Given the description of an element on the screen output the (x, y) to click on. 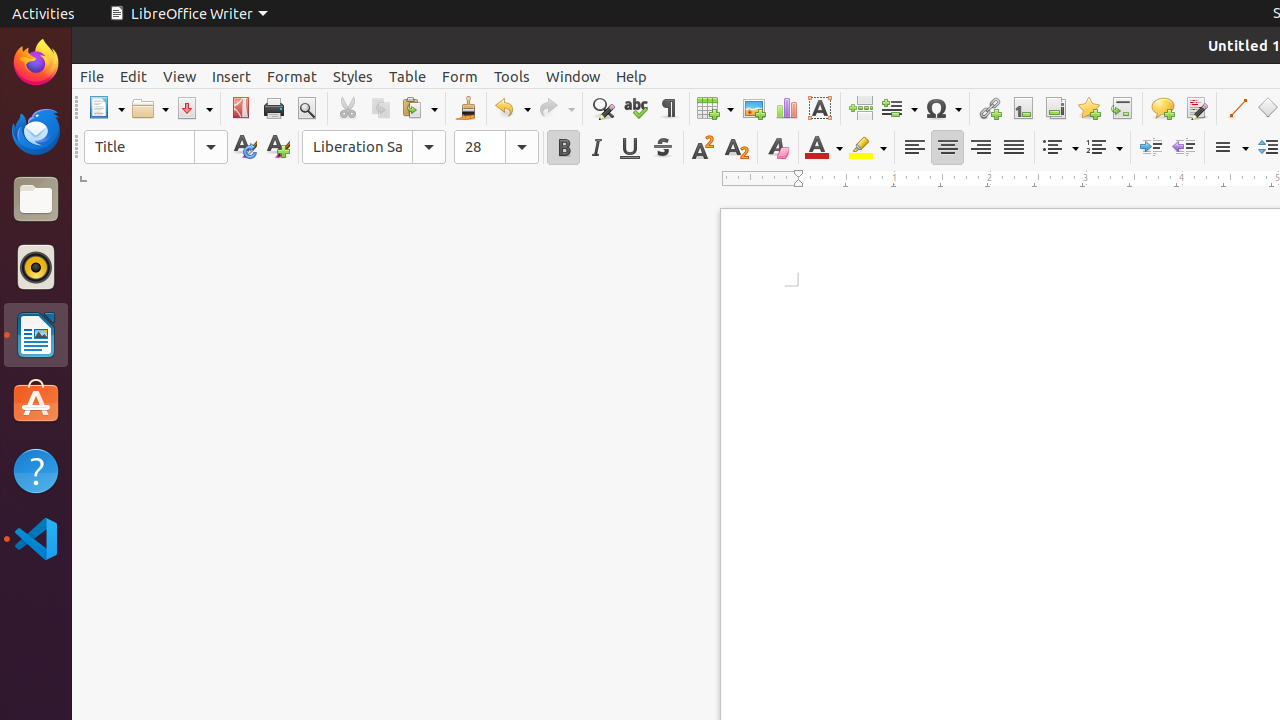
Hyperlink Element type: toggle-button (989, 108)
Undo Element type: push-button (512, 108)
Chart Element type: push-button (786, 108)
Open Element type: push-button (150, 108)
Format Element type: menu (292, 76)
